Given the description of an element on the screen output the (x, y) to click on. 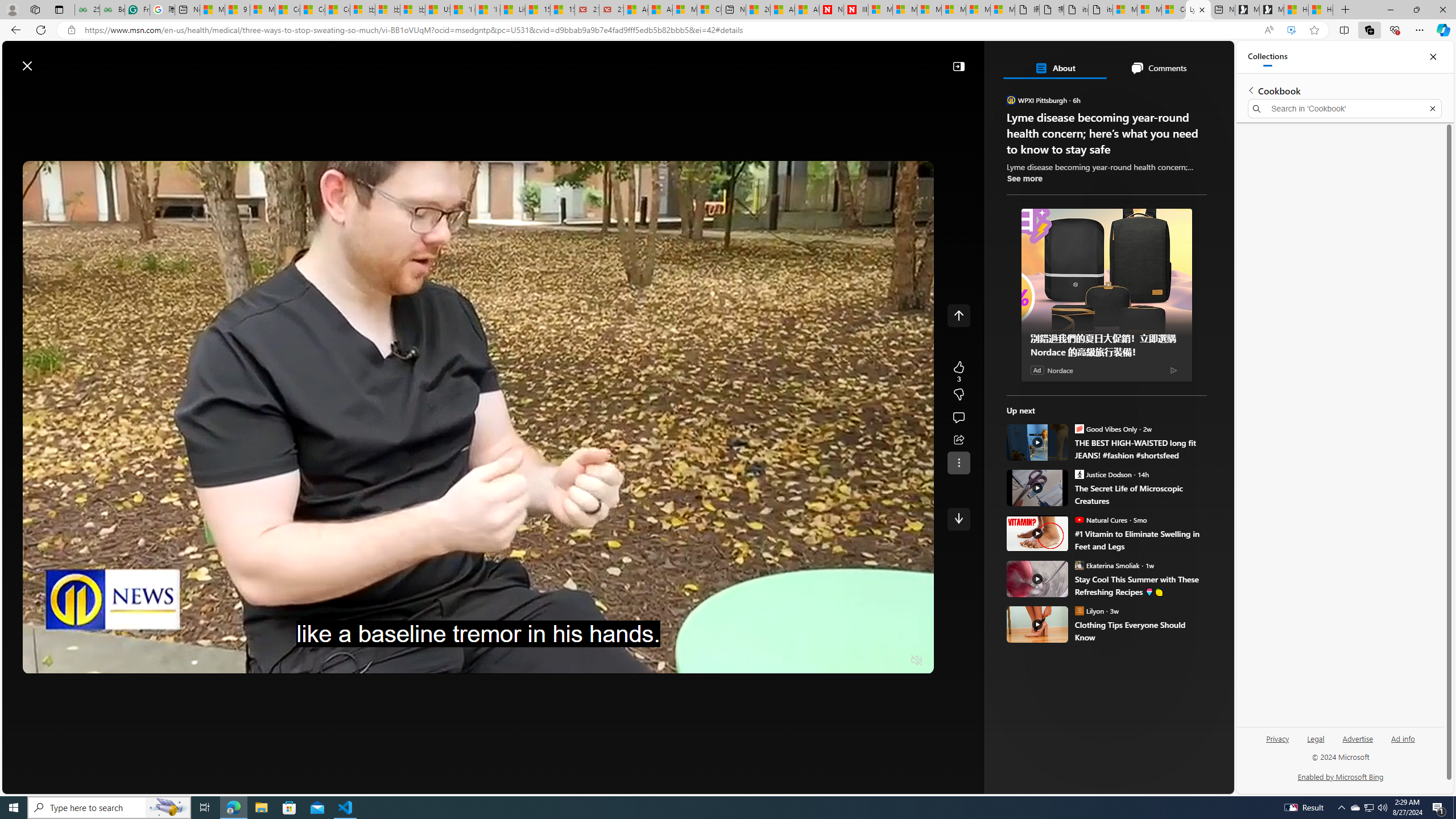
See more (1024, 178)
Ekaterina Smoliak Ekaterina Smoliak (1107, 565)
Unmute (916, 660)
Personalize (1023, 92)
Collapse (958, 65)
#1 Vitamin to Eliminate Swelling in Feet and Legs (1037, 533)
Cloud Computing Services | Microsoft Azure (708, 9)
The Secret Life of Microscopic Creatures (1140, 494)
Seek Forward (85, 660)
The Secret Life of Microscopic Creatures (1037, 488)
